Given the description of an element on the screen output the (x, y) to click on. 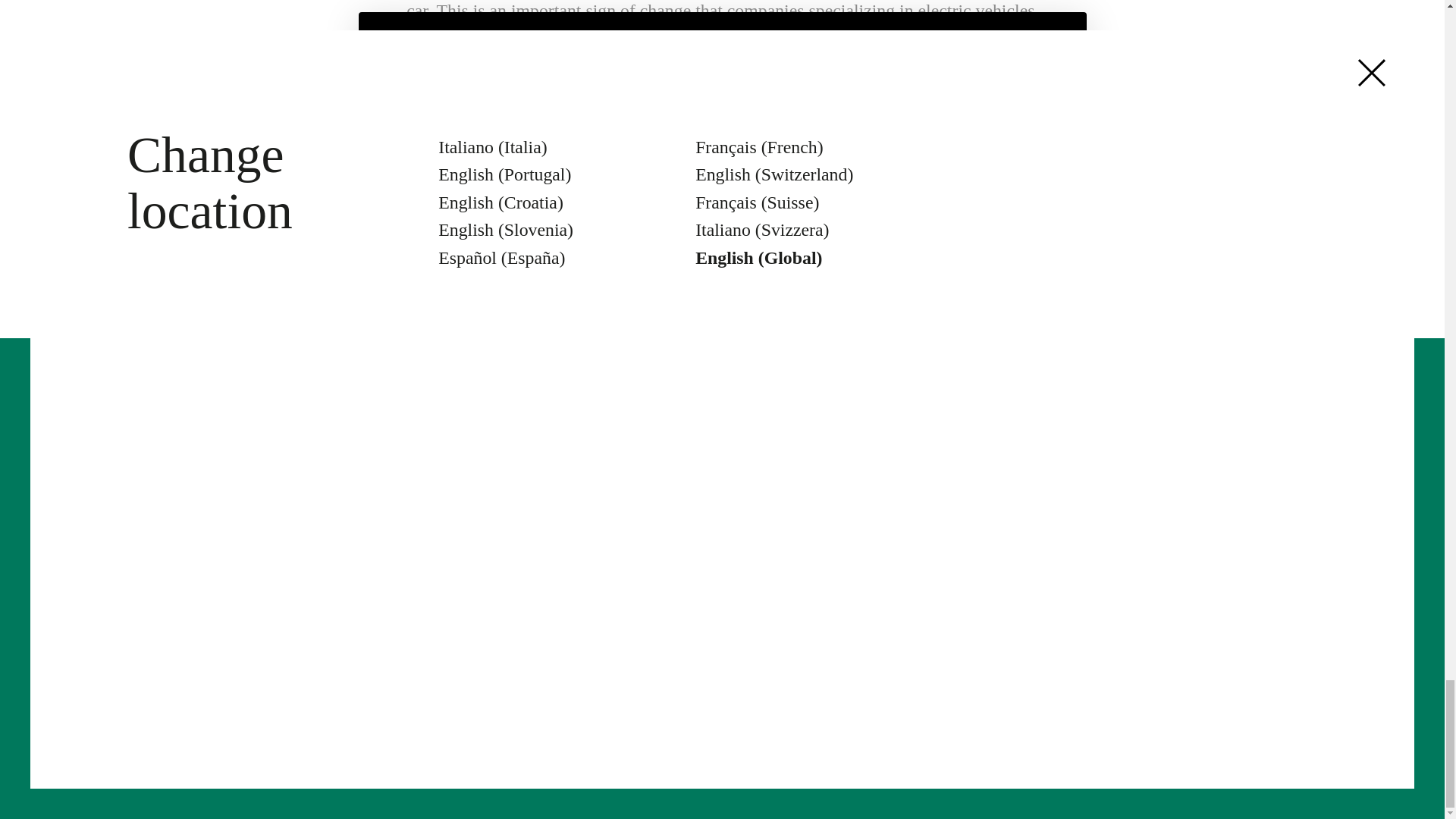
Contact us (755, 487)
Shared charging (593, 546)
Home charging (590, 487)
Download (754, 546)
Cookie policy (1071, 711)
Privacy policy (922, 711)
Cookie preferences (1238, 711)
